Given the description of an element on the screen output the (x, y) to click on. 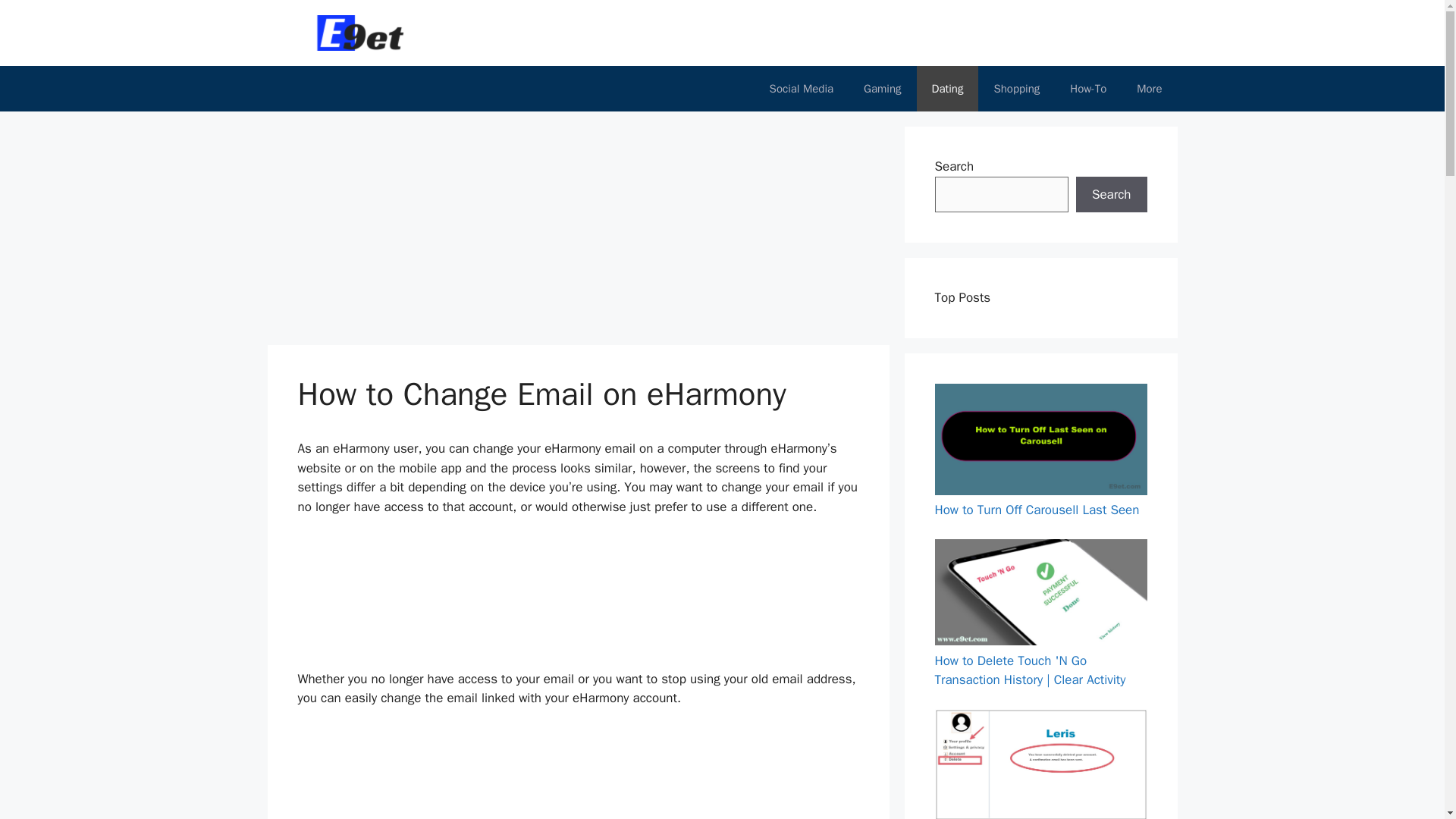
Shopping (1016, 88)
How to Turn Off Carousell Last Seen (1036, 509)
More (1148, 88)
How-To (1087, 88)
Gaming (881, 88)
Advertisement (578, 599)
Advertisement (550, 232)
Dating (947, 88)
Social Media (801, 88)
Search (1111, 194)
Advertisement (578, 773)
